Given the description of an element on the screen output the (x, y) to click on. 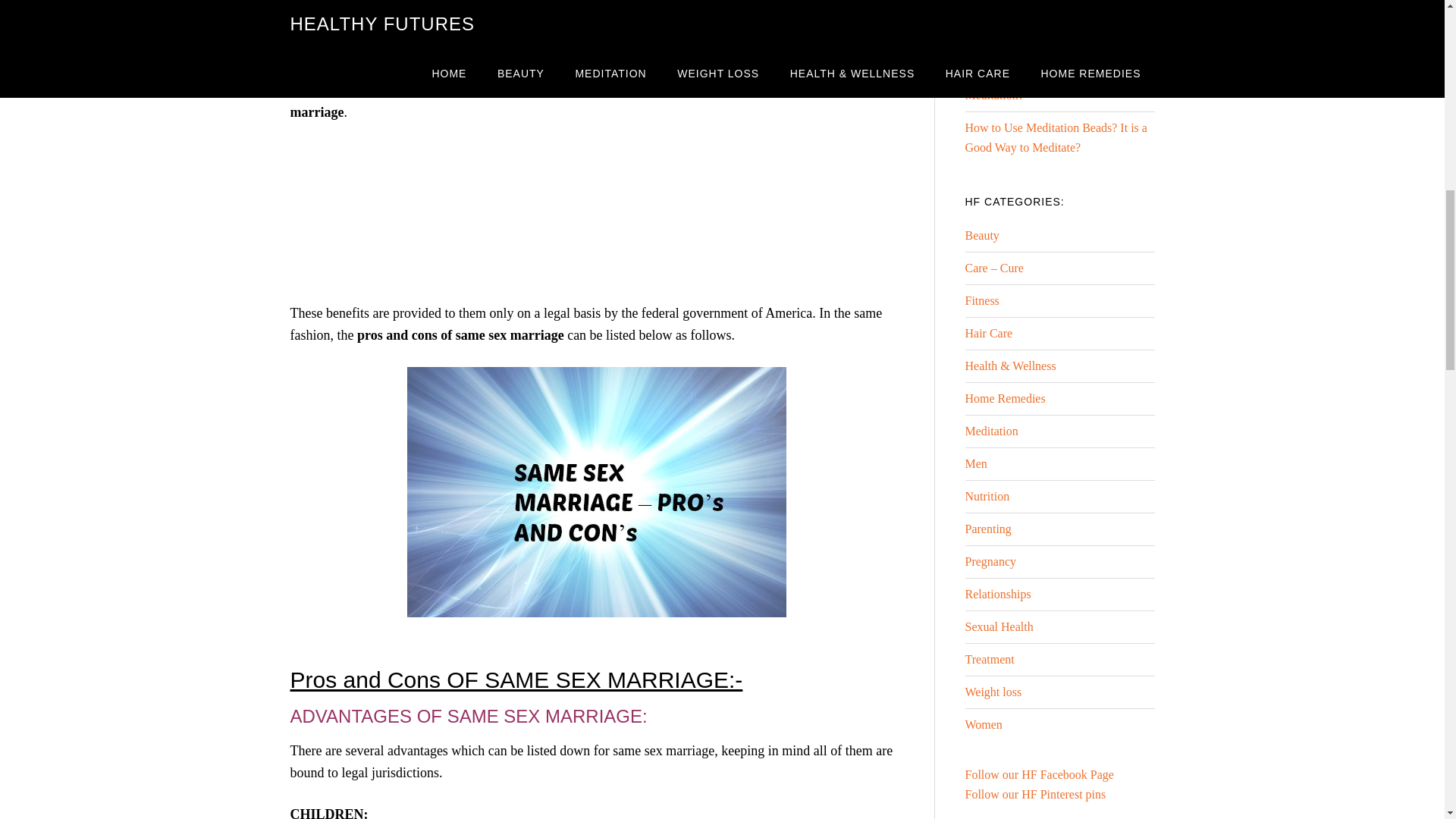
Nutrition (986, 495)
Sexual Health (997, 626)
Men (975, 463)
Hair Care (987, 332)
Home Remedies (1004, 398)
Meditation (990, 431)
Advertisement (595, 218)
How to Use Meditation Beads? It is a Good Way to Meditate? (1055, 137)
What are the Hand Positions for Meditation? (1042, 84)
Relationships (996, 594)
Pregnancy (989, 561)
Parenting (986, 528)
Beauty (980, 235)
Fitness (980, 300)
